Given the description of an element on the screen output the (x, y) to click on. 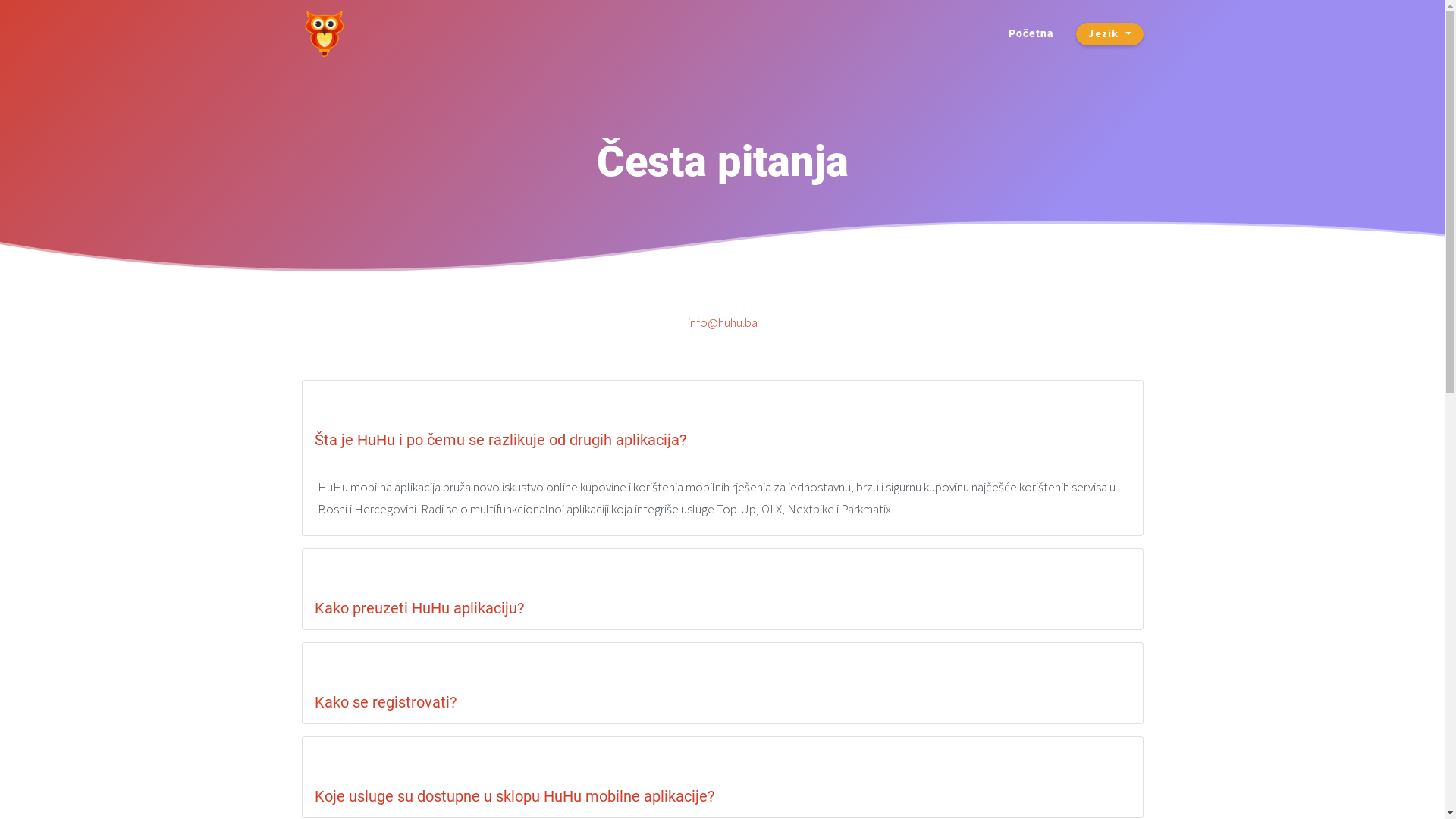
Kako preuzeti HuHu aplikaciju? Element type: text (418, 608)
Jezik Element type: text (1109, 33)
Koje usluge su dostupne u sklopu HuHu mobilne aplikacije? Element type: text (513, 796)
Kako se registrovati? Element type: text (384, 702)
info@huhu.ba Element type: text (721, 321)
